Given the description of an element on the screen output the (x, y) to click on. 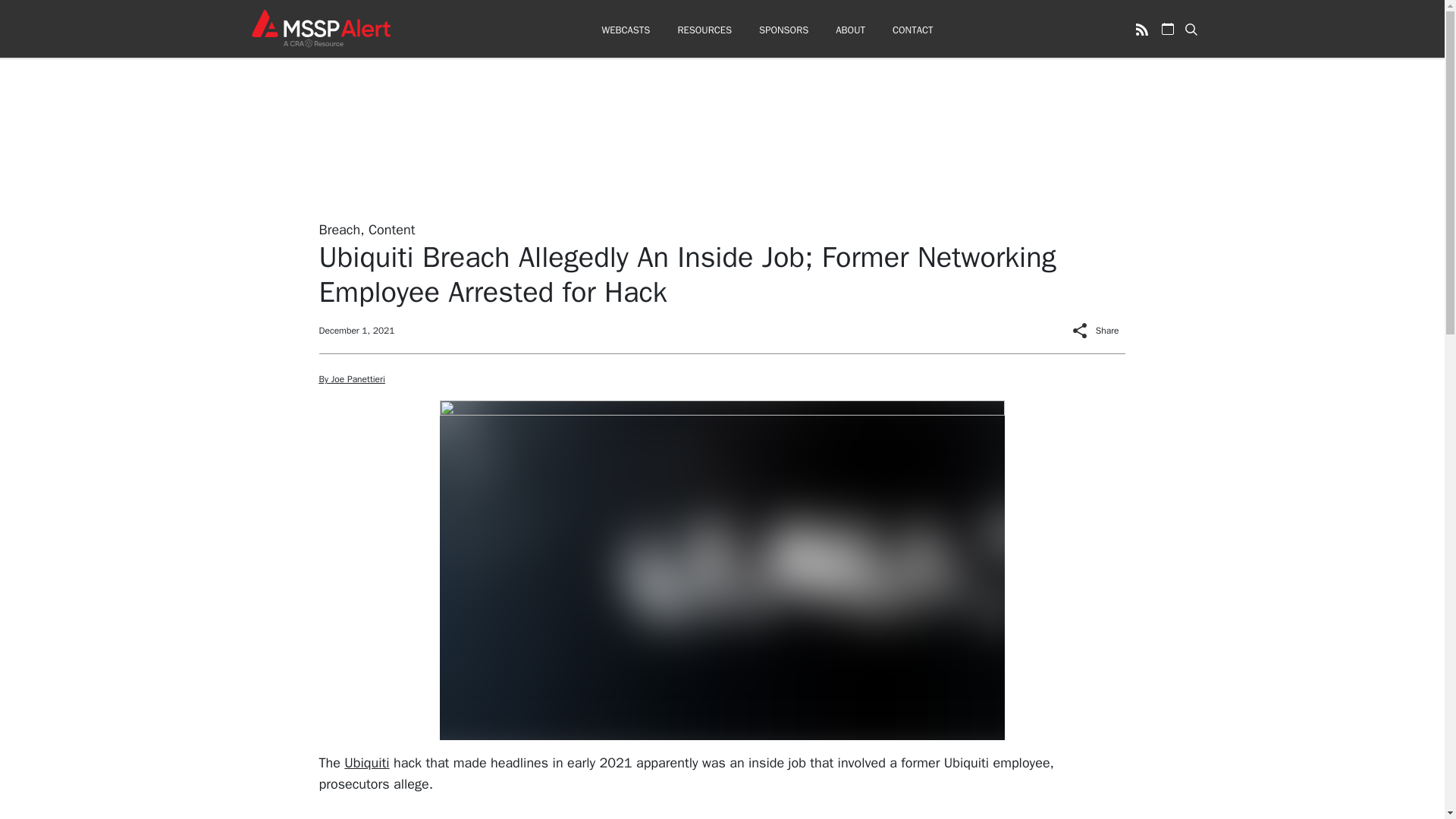
View Cybersecurity Conference Calendar (1167, 28)
Content (391, 229)
CONTACT (912, 30)
SPONSORS (783, 30)
ABOUT (849, 30)
By Joe Panettieri (351, 378)
RESOURCES (704, 30)
Breach (338, 229)
WEBCASTS (625, 30)
Ubiquiti (365, 761)
